Given the description of an element on the screen output the (x, y) to click on. 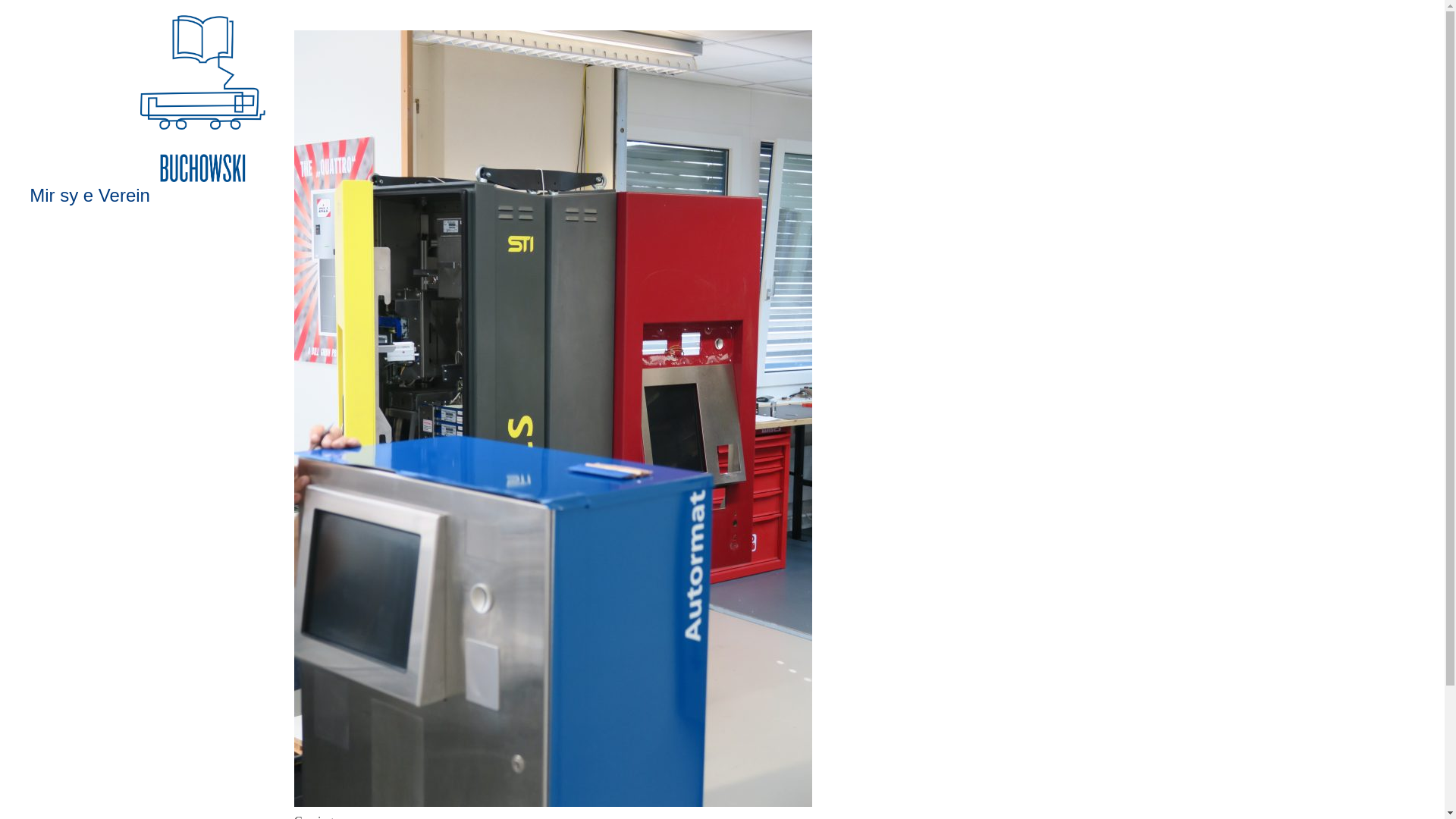
Skip to content Element type: text (44, 212)
Mir sy e Verein Element type: text (89, 195)
